Given the description of an element on the screen output the (x, y) to click on. 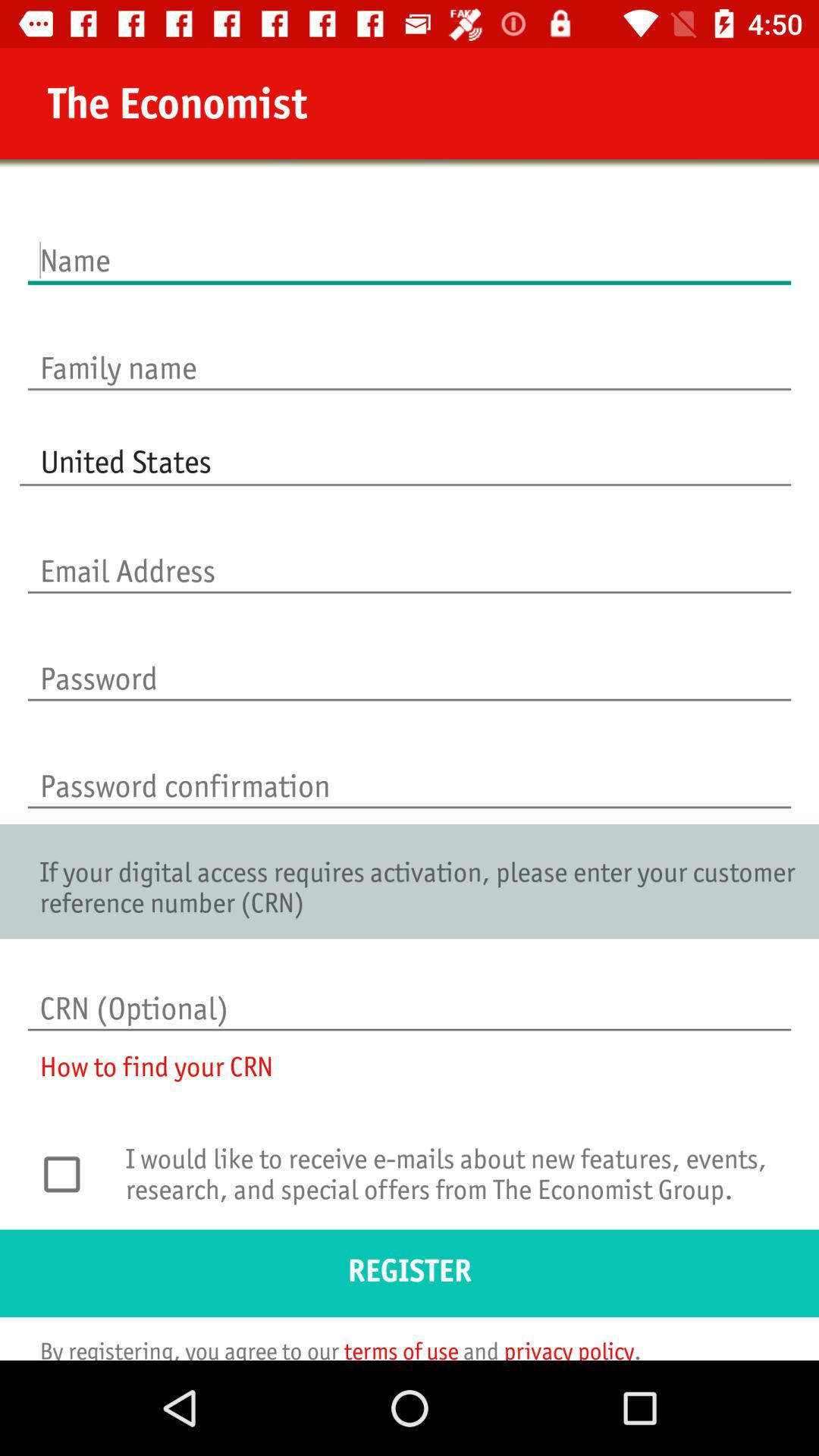
enter the name (409, 244)
